Given the description of an element on the screen output the (x, y) to click on. 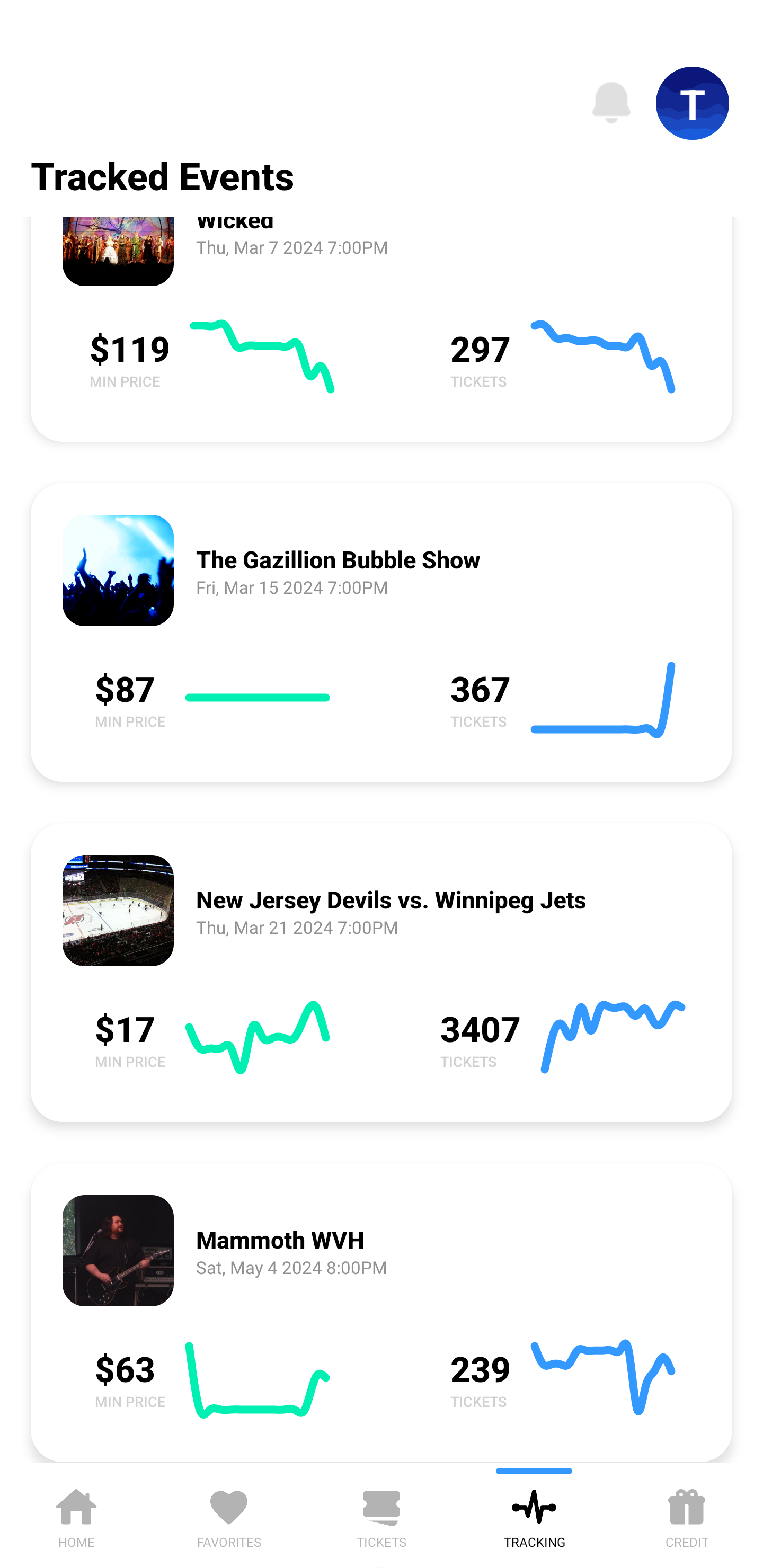
T (692, 103)
HOME (76, 1515)
FAVORITES (228, 1515)
TICKETS (381, 1515)
TRACKING (533, 1515)
CREDIT (686, 1515)
